Given the description of an element on the screen output the (x, y) to click on. 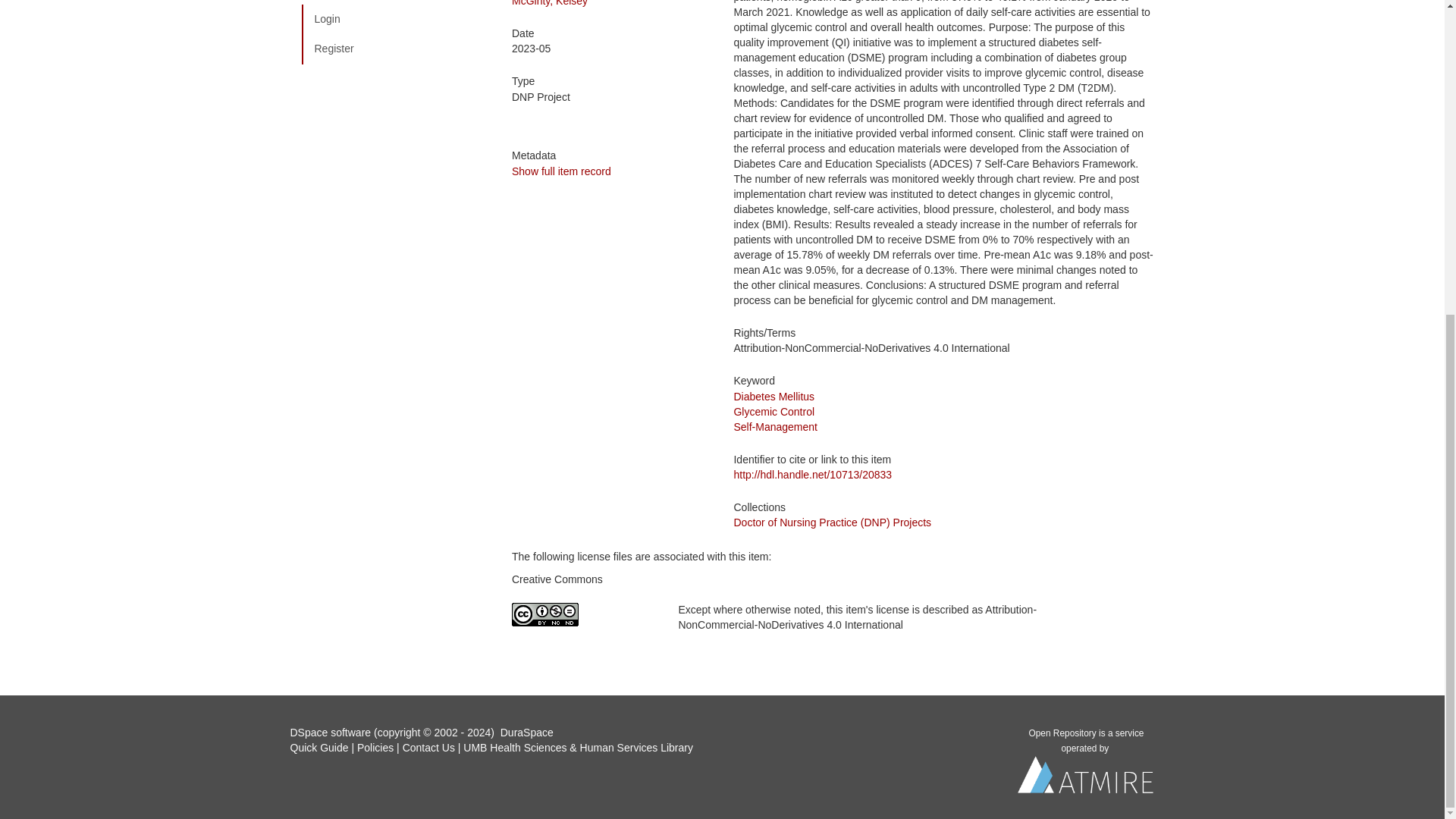
Diabetes Mellitus (773, 396)
Show full item record (561, 171)
Atmire NV (1085, 779)
Glycemic Control (773, 411)
McGinty, Kelsey (550, 3)
Login (395, 19)
Attribution-NonCommercial-NoDerivatives 4.0 International (583, 614)
Register (395, 49)
